Given the description of an element on the screen output the (x, y) to click on. 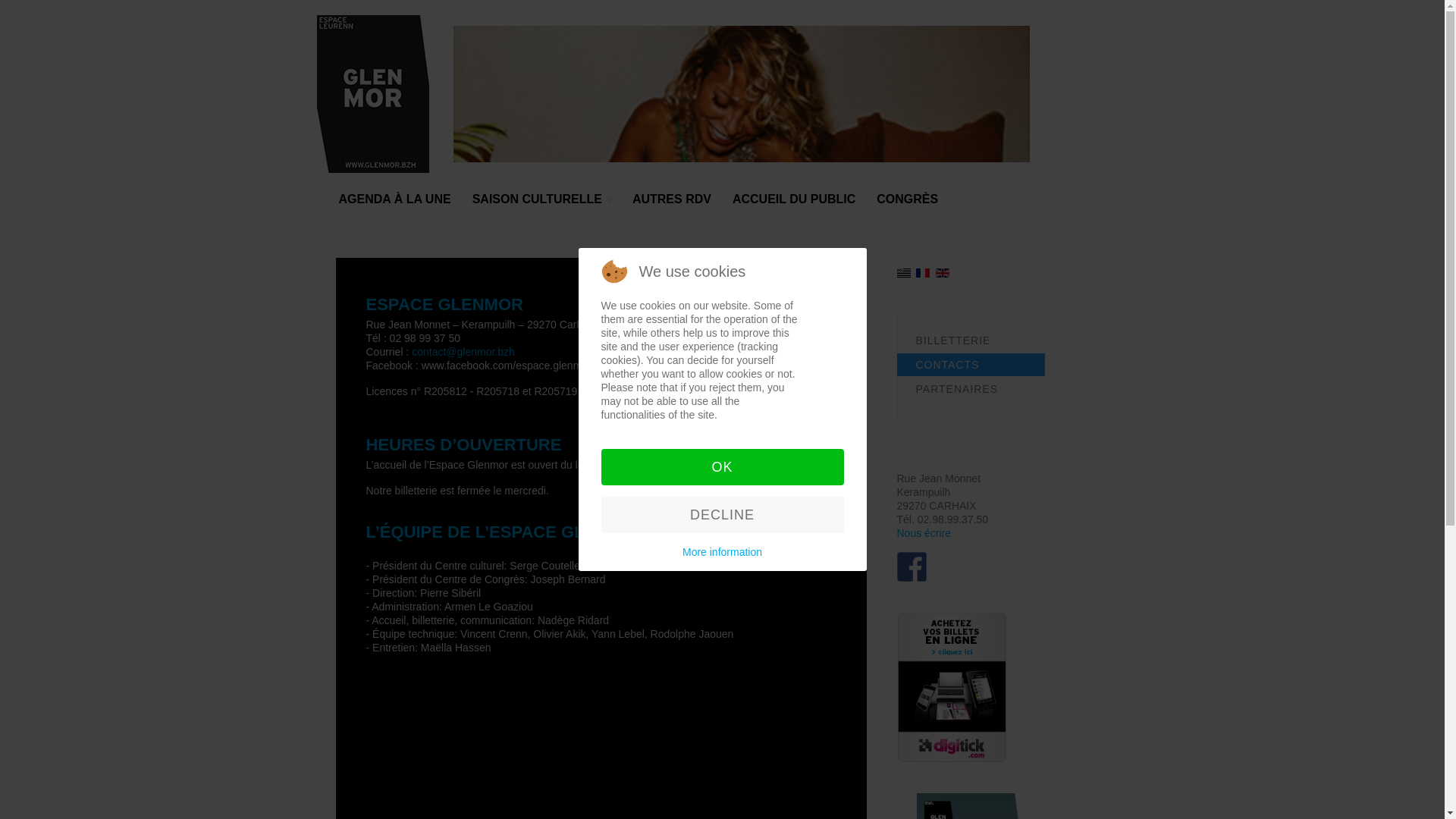
Facebook Espace Glenmor Element type: hover (910, 565)
BILLETTERIE Element type: text (970, 340)
CONTACTS Element type: text (970, 364)
SAISON CULTURELLE Element type: text (541, 205)
PARTENAIRES Element type: text (970, 388)
English (UK) Element type: hover (942, 272)
More information Element type: text (722, 552)
DECLINE Element type: text (721, 514)
OK Element type: text (721, 466)
contact@glenmor.bzh Element type: text (462, 351)
AUTRES RDV Element type: text (671, 205)
Billeterie en ligne Element type: hover (951, 686)
Breton Element type: hover (903, 272)
Facebook Element type: hover (910, 566)
ACCUEIL DU PUBLIC Element type: text (793, 205)
